Given the description of an element on the screen output the (x, y) to click on. 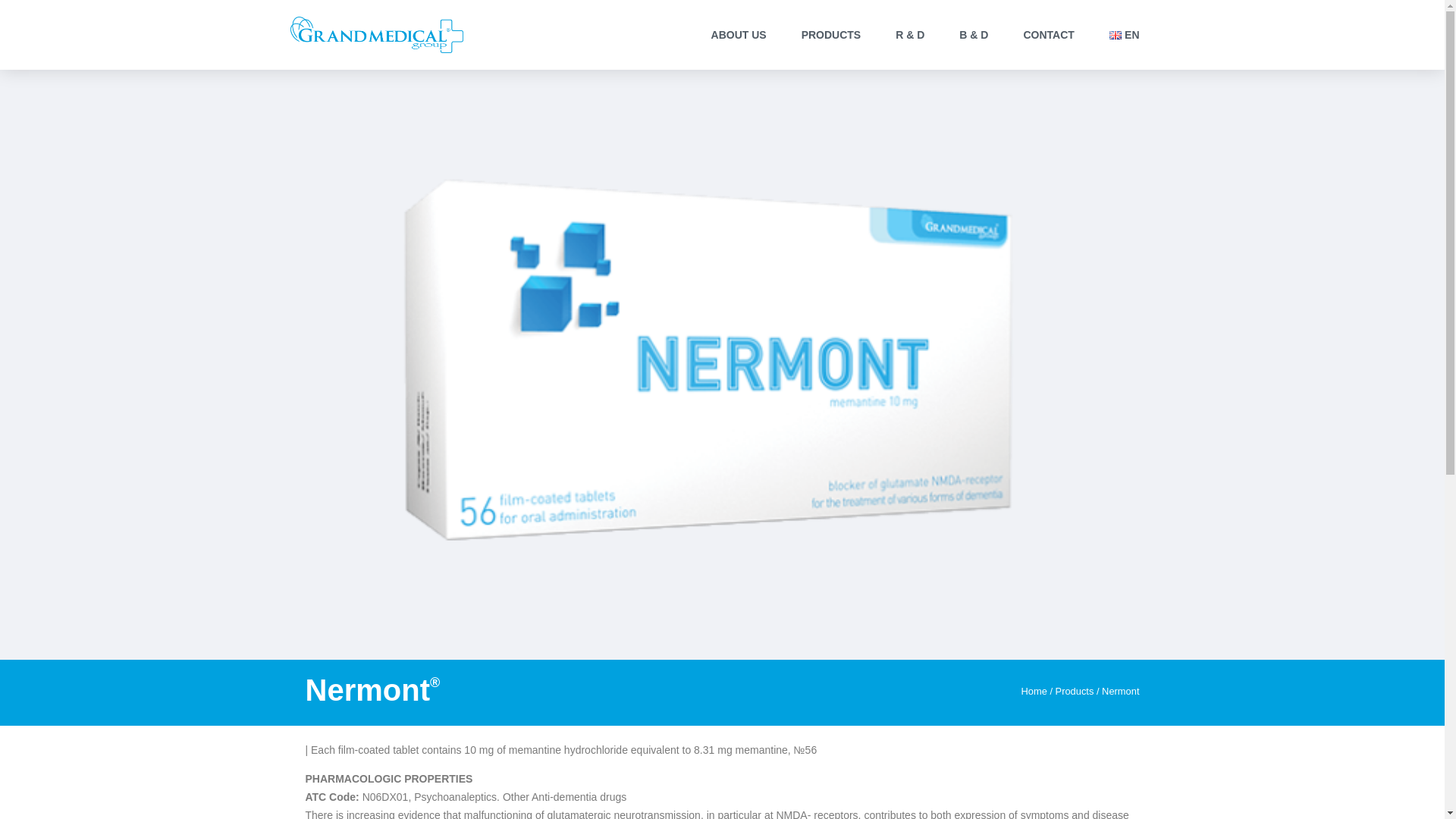
ABOUT US (738, 34)
PRODUCTS (831, 34)
CONTACT (1048, 34)
